Given the description of an element on the screen output the (x, y) to click on. 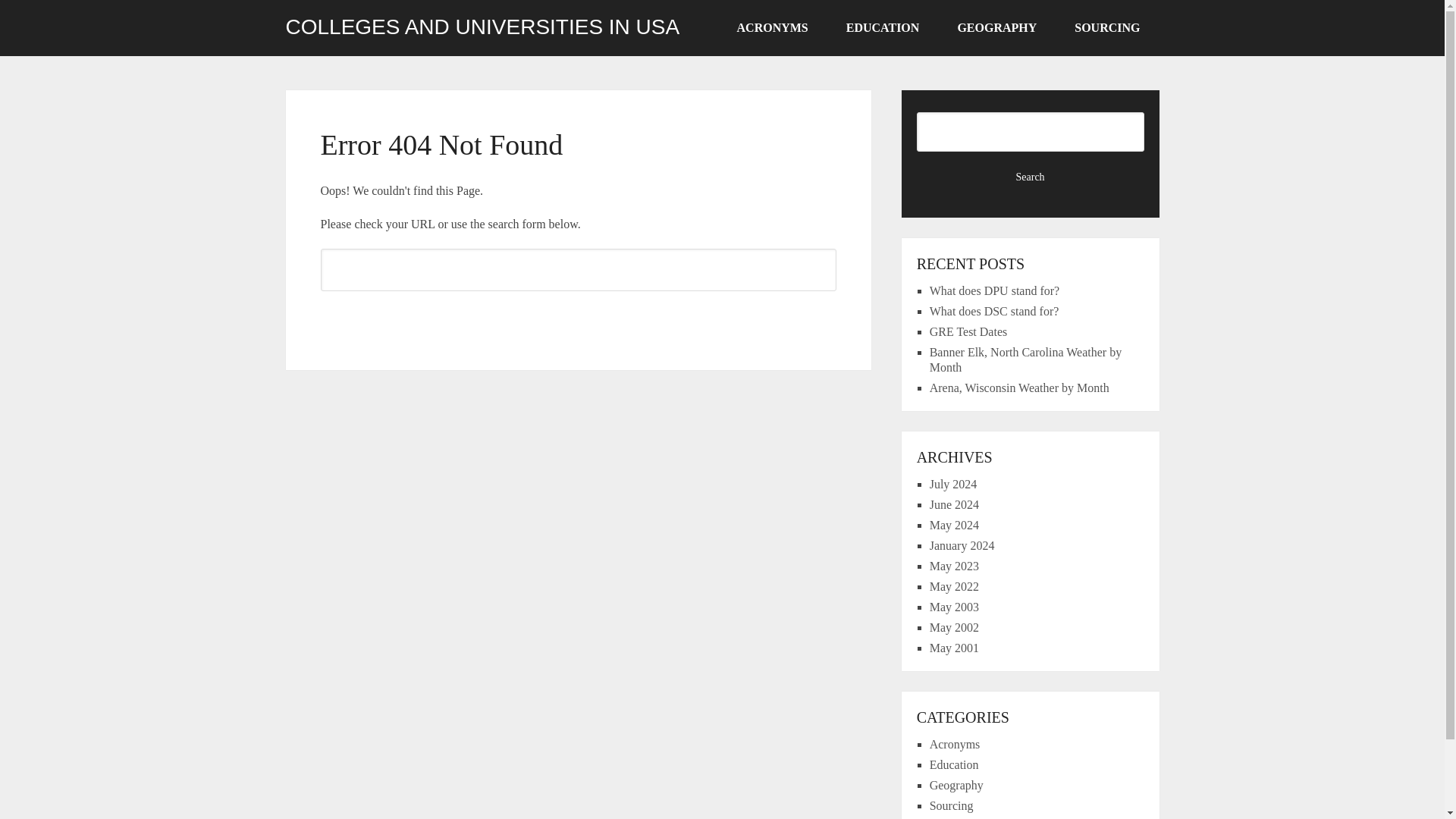
Search (1030, 176)
May 2001 (954, 647)
Search (577, 316)
May 2024 (954, 524)
May 2003 (954, 606)
June 2024 (954, 504)
Search (577, 316)
SOURCING (1106, 28)
Acronyms (954, 744)
What does DSC stand for? (994, 310)
Banner Elk, North Carolina Weather by Month (1025, 359)
May 2002 (954, 626)
Sourcing (952, 805)
COLLEGES AND UNIVERSITIES IN USA (482, 26)
Arena, Wisconsin Weather by Month (1019, 387)
